Given the description of an element on the screen output the (x, y) to click on. 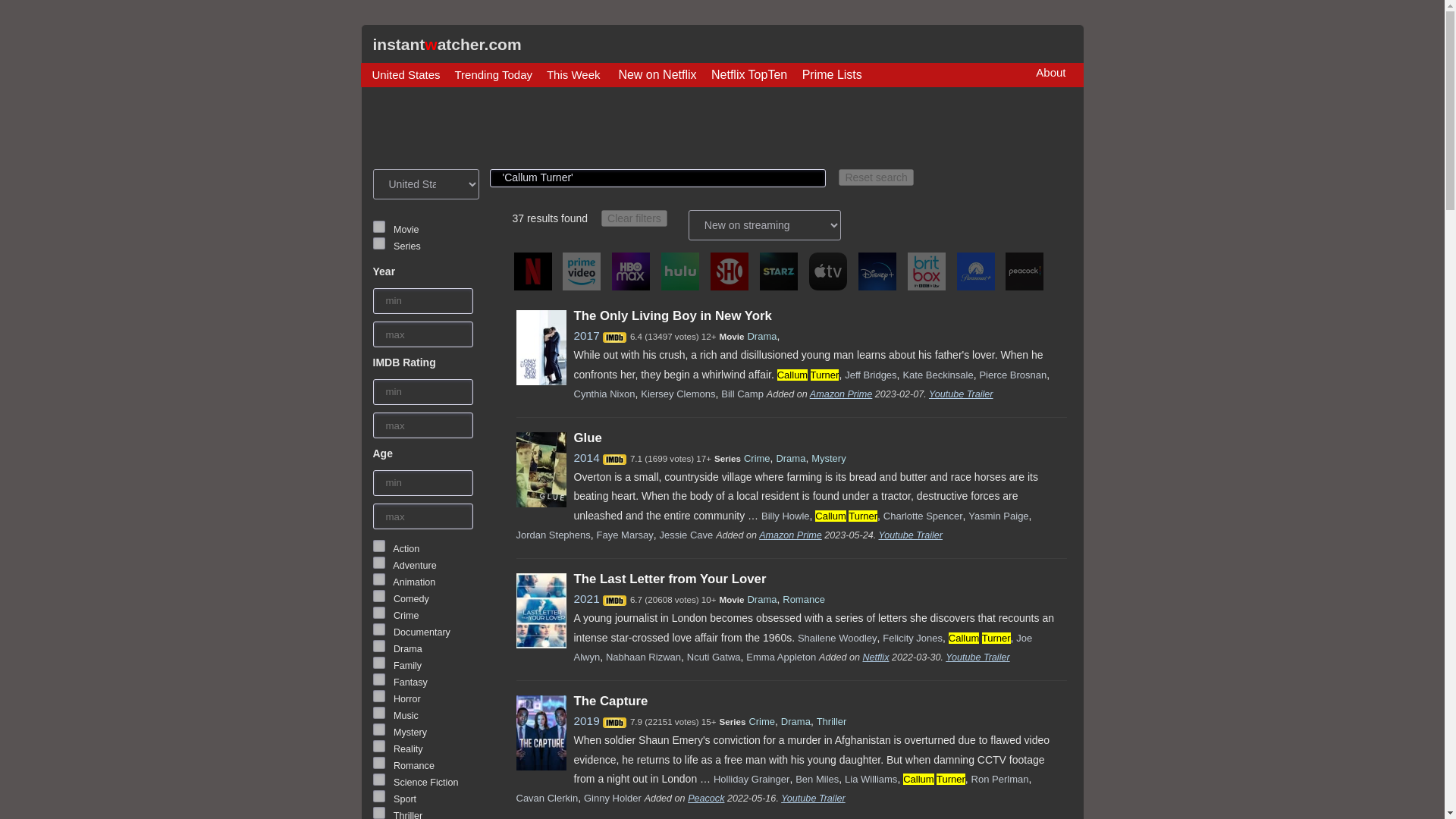
This Week (573, 74)
Music (378, 712)
Glue (587, 437)
Amazon Prime (840, 394)
instantwatcher.com (446, 43)
New on Netflix (657, 74)
Horror (378, 695)
Documentary (378, 629)
movie (378, 226)
Family (378, 662)
